Given the description of an element on the screen output the (x, y) to click on. 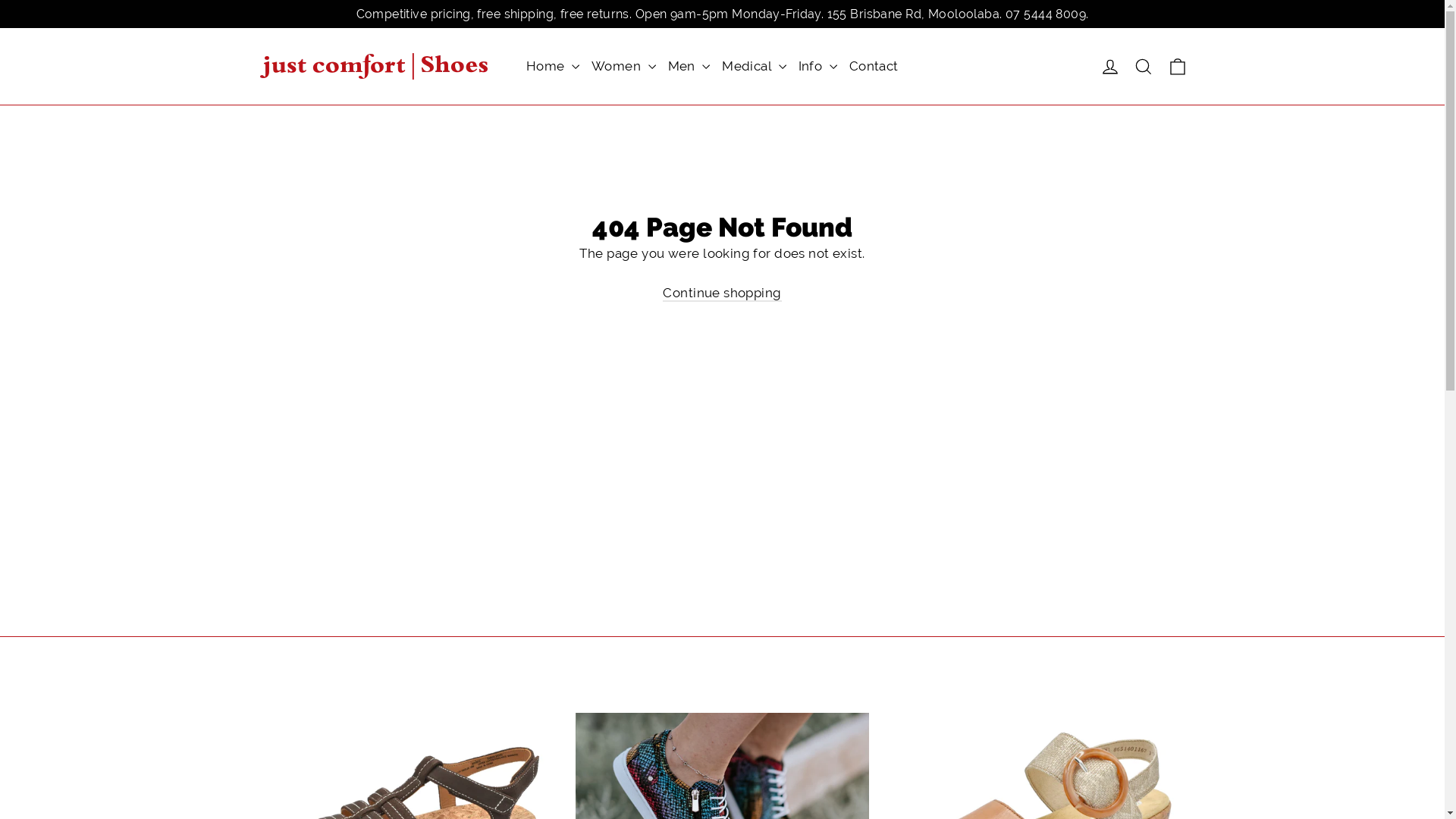
Contact Element type: text (873, 66)
Skip to content Element type: text (0, 0)
Continue shopping Element type: text (721, 293)
Men Element type: text (689, 66)
Info Element type: text (817, 66)
Log in Element type: text (1109, 65)
Home Element type: text (552, 66)
Search Element type: text (1143, 65)
Medical Element type: text (753, 66)
Cart Element type: text (1176, 65)
Women Element type: text (623, 66)
